Given the description of an element on the screen output the (x, y) to click on. 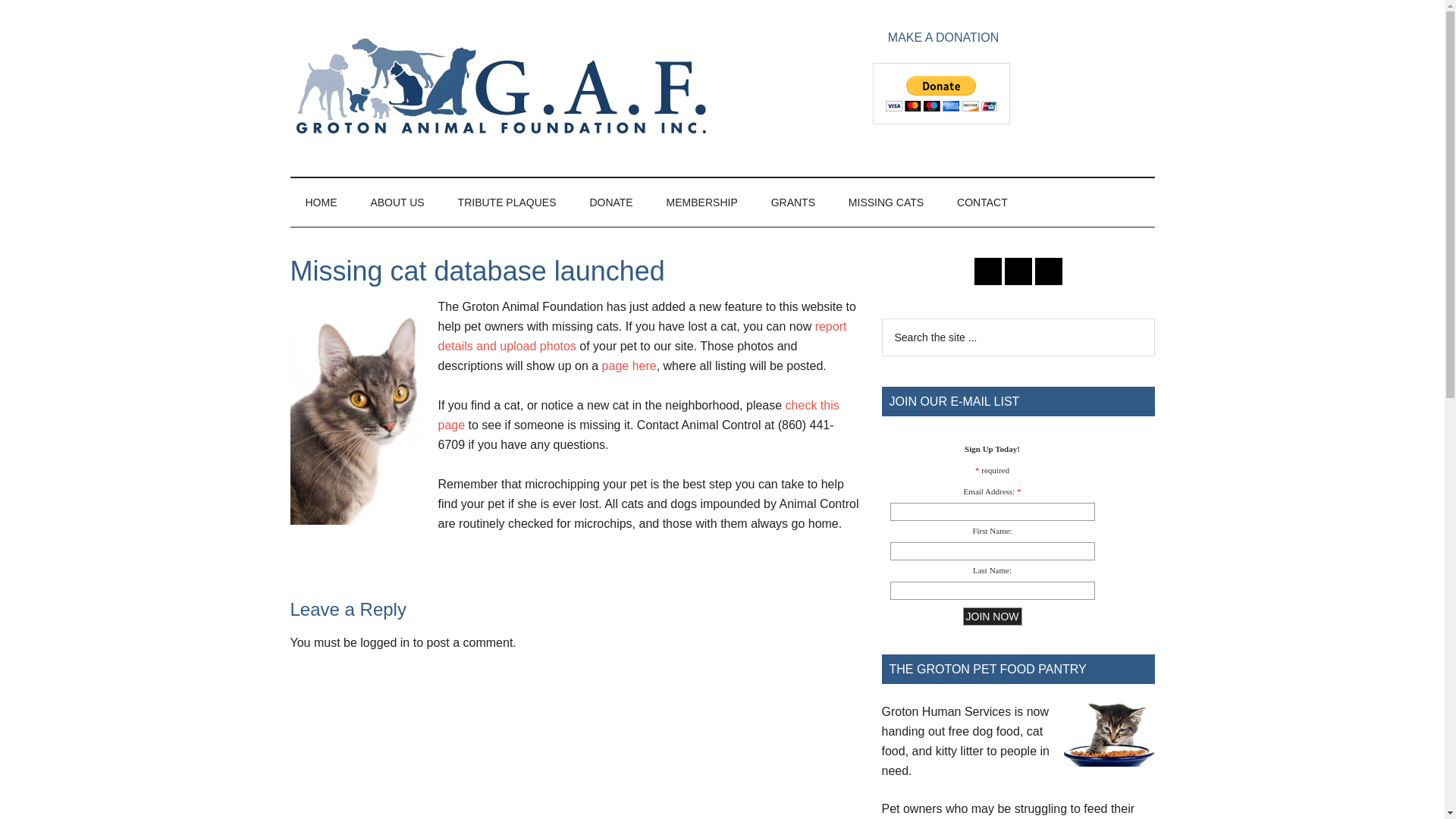
page here (629, 365)
Groton Animal Foundation (498, 88)
Join Now (992, 616)
DONATE (610, 202)
Missing cats  (629, 365)
CONTACT (982, 202)
Enter a description of your missing cat (642, 336)
Join Now (992, 616)
MISSING CATS (885, 202)
GRANTS (792, 202)
report details and upload photos (642, 336)
HOME (320, 202)
